Given the description of an element on the screen output the (x, y) to click on. 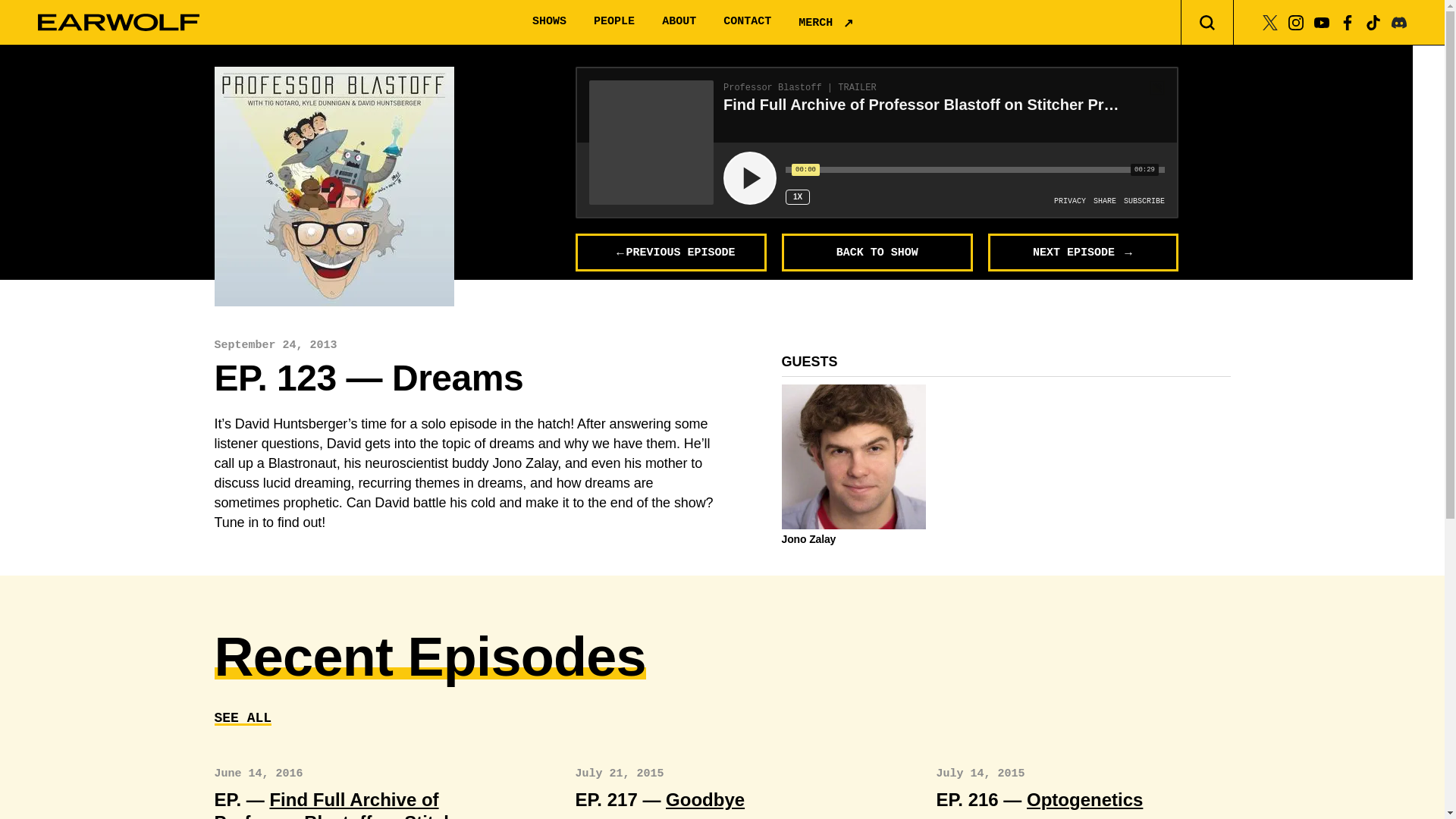
SEE ALL (242, 717)
Optogenetics (1084, 799)
Instagram (1295, 21)
Find Full Archive of Professor Blastoff on Stitcher Premium (342, 804)
Tiktok (1372, 21)
Dreams (333, 186)
Jono Zalay (853, 539)
SHOWS (549, 21)
ABOUT (678, 21)
PEOPLE (614, 21)
YouTube (1321, 21)
CONTACT (747, 21)
Goodbye (704, 799)
Earwolf (118, 22)
BACK TO SHOW (876, 252)
